Given the description of an element on the screen output the (x, y) to click on. 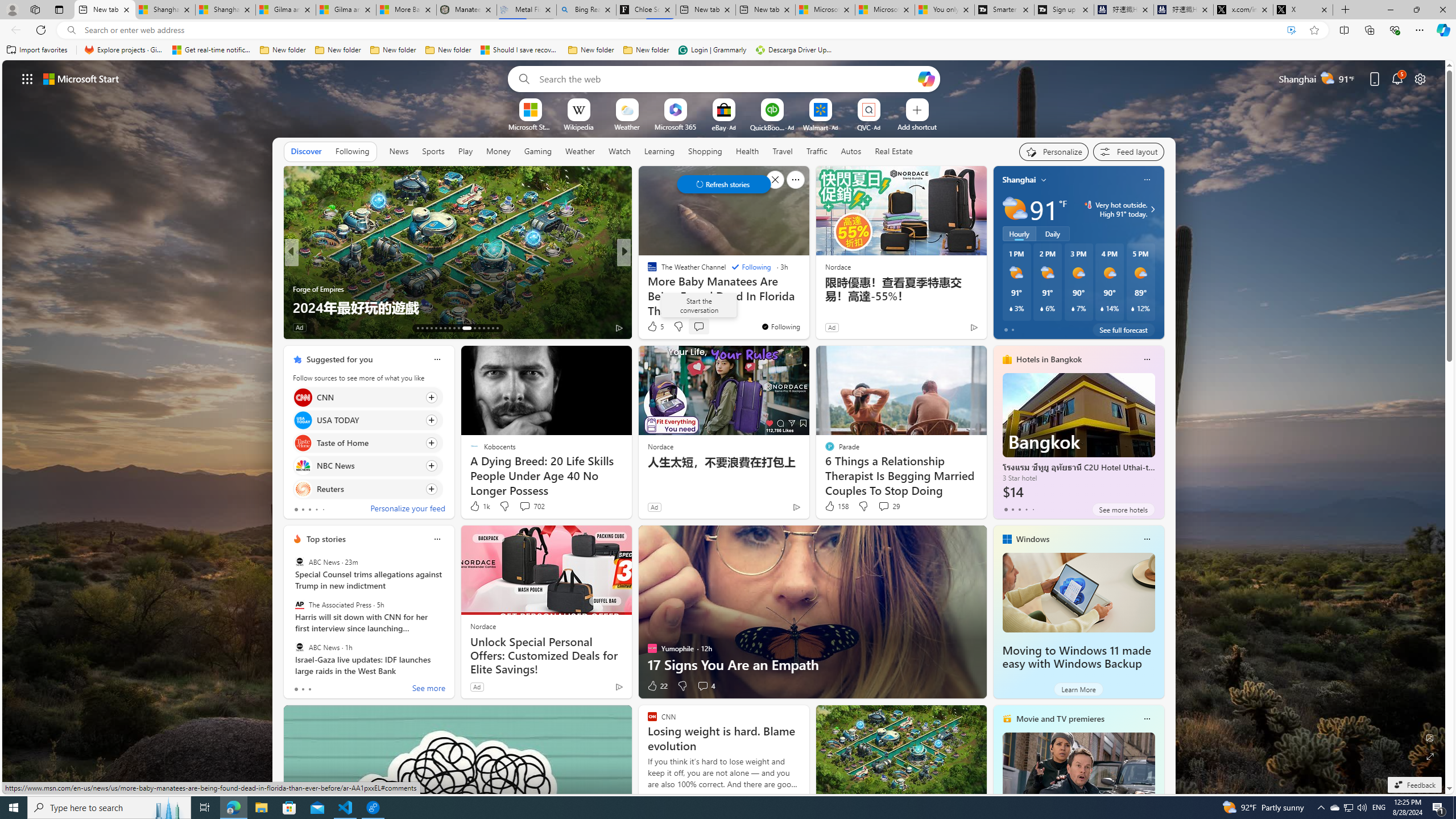
View comments 4 Comment (703, 685)
CNBC (647, 270)
Moving to Windows 11 made easy with Windows Backup (1077, 592)
View comments 58 Comment (6, 327)
Top stories (325, 538)
Windows (1032, 538)
NBC News (302, 466)
Add a site (916, 126)
AutomationID: tab-24 (474, 328)
16 Like (652, 327)
Microsoft 365 (675, 126)
View comments 29 Comment (883, 505)
View comments 1 Comment (698, 327)
